Given the description of an element on the screen output the (x, y) to click on. 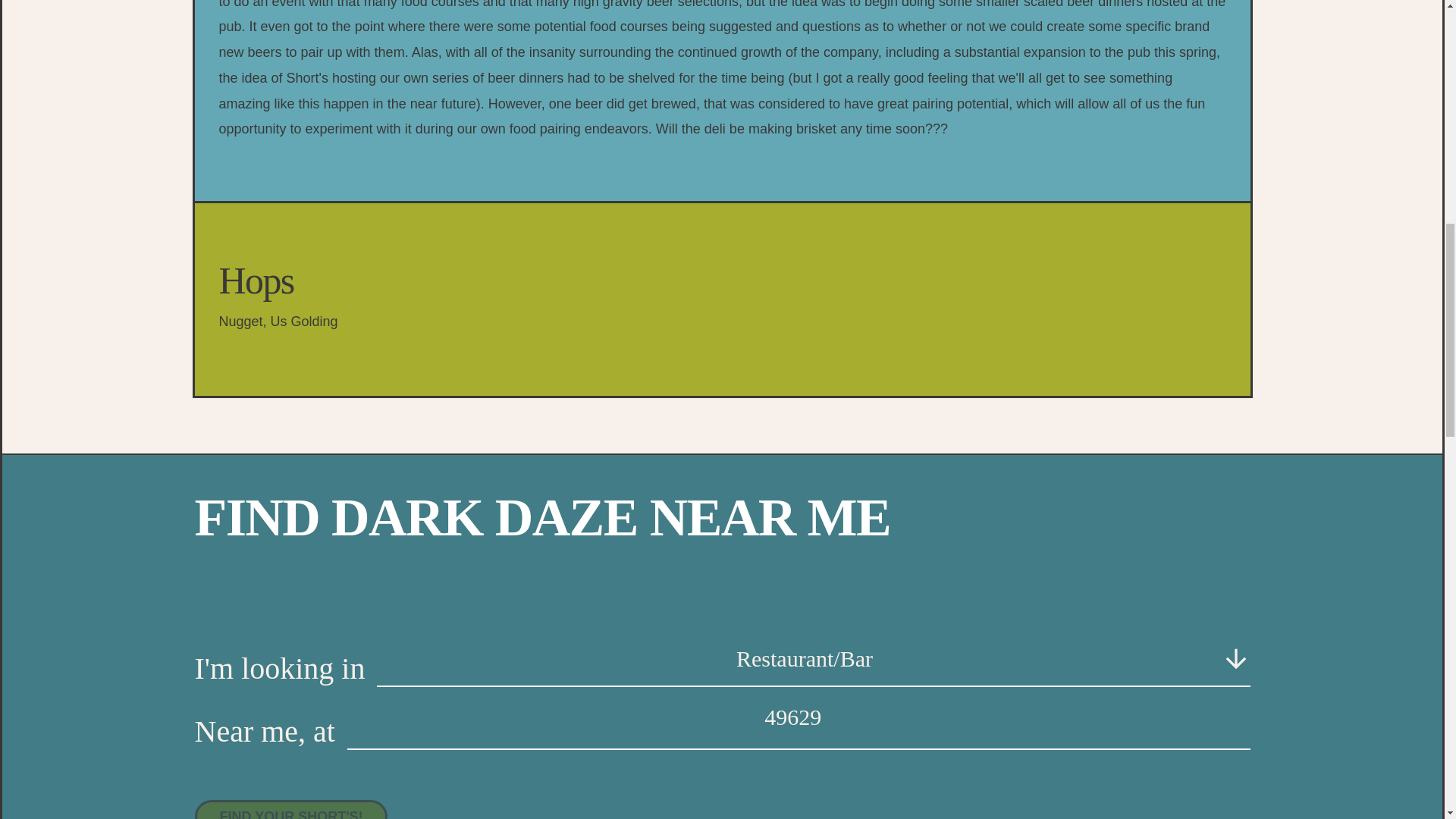
49629 (798, 718)
